Given the description of an element on the screen output the (x, y) to click on. 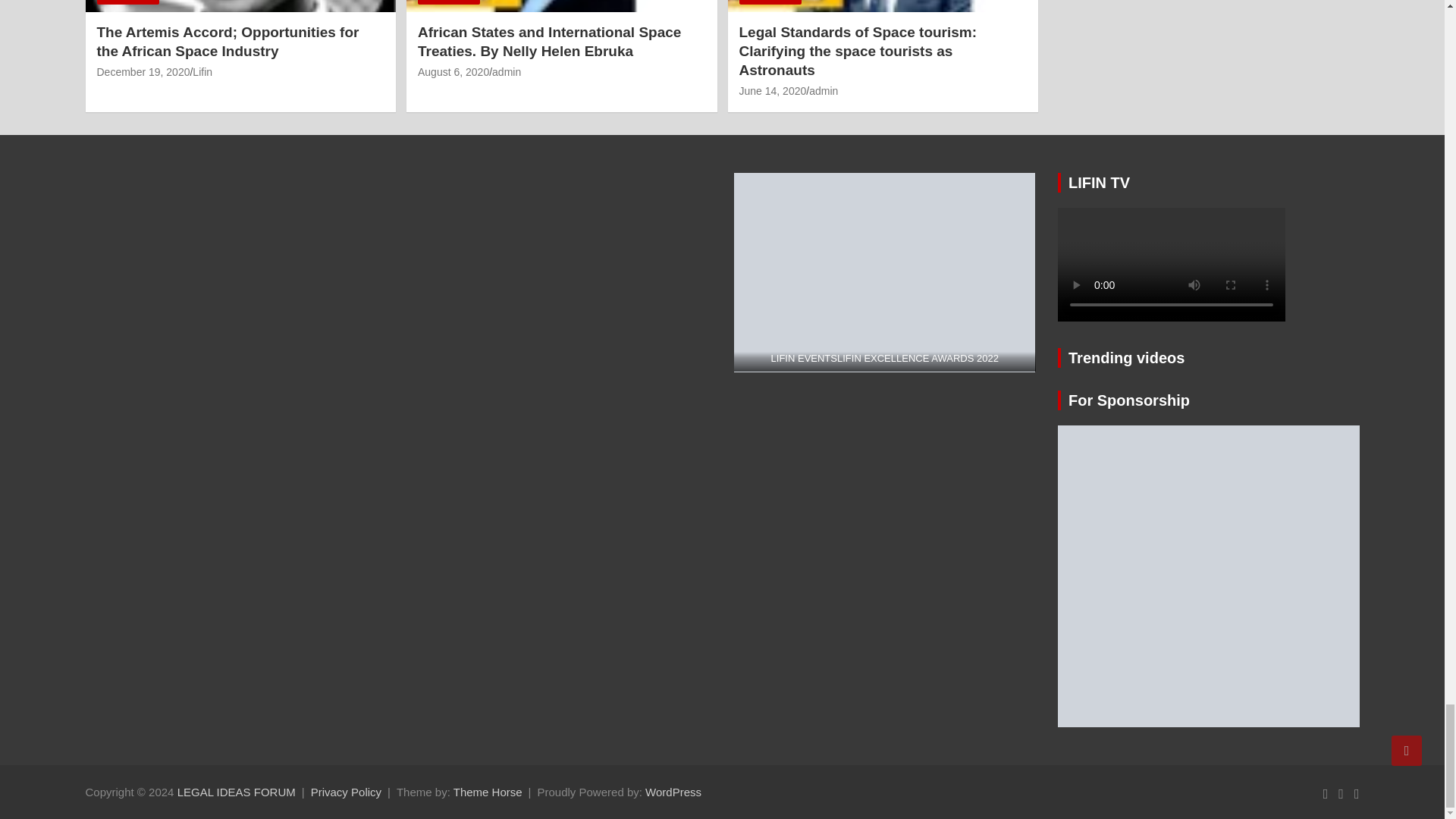
LEGAL IDEAS FORUM (236, 791)
WordPress (673, 791)
Theme Horse (487, 791)
